Given the description of an element on the screen output the (x, y) to click on. 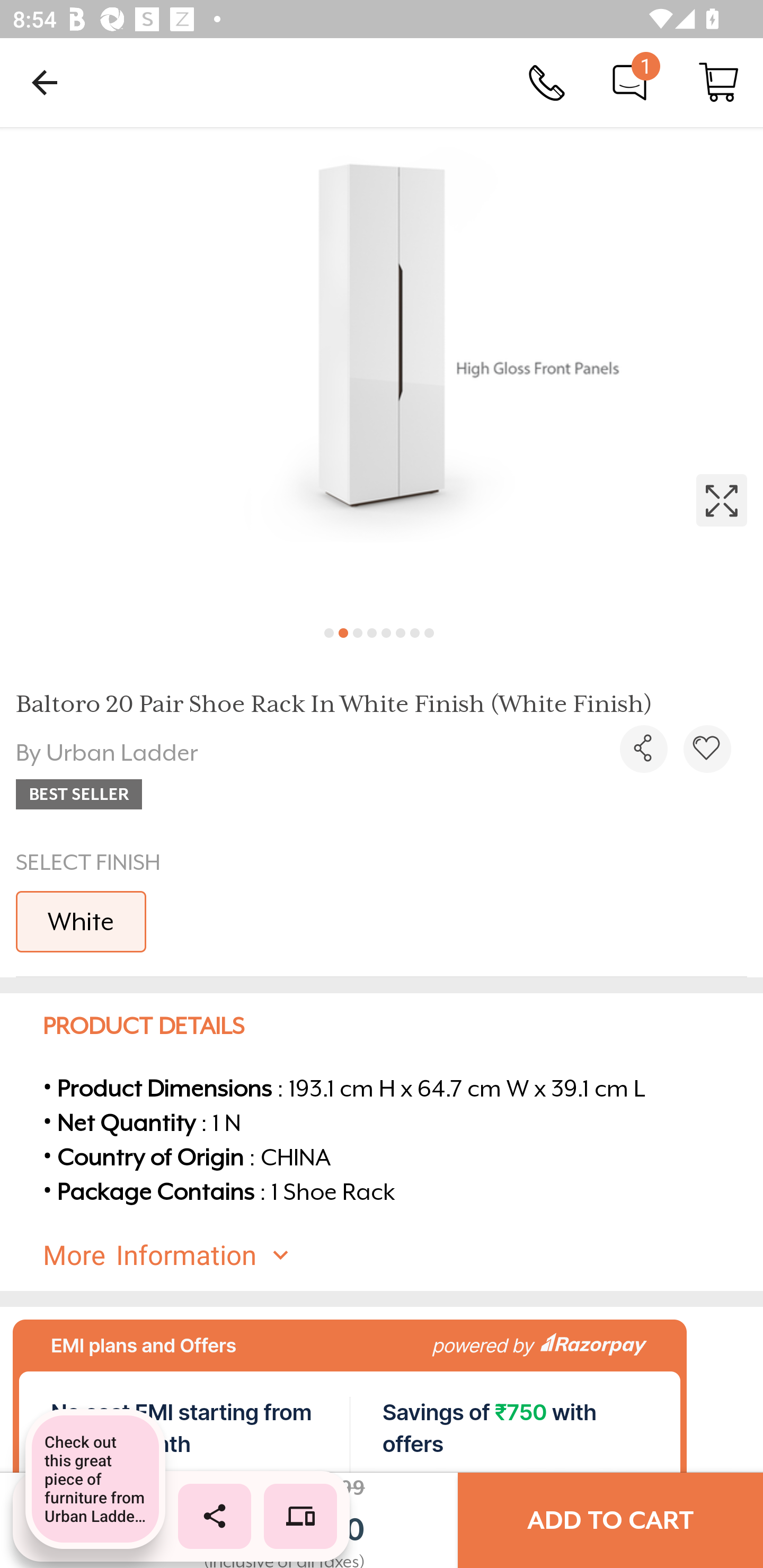
Navigate up (44, 82)
Call Us (546, 81)
Chat (629, 81)
Cart (718, 81)
 (381, 370)
 (643, 748)
 (706, 748)
White (81, 920)
More Information  (396, 1255)
ADD TO CART (610, 1520)
